Given the description of an element on the screen output the (x, y) to click on. 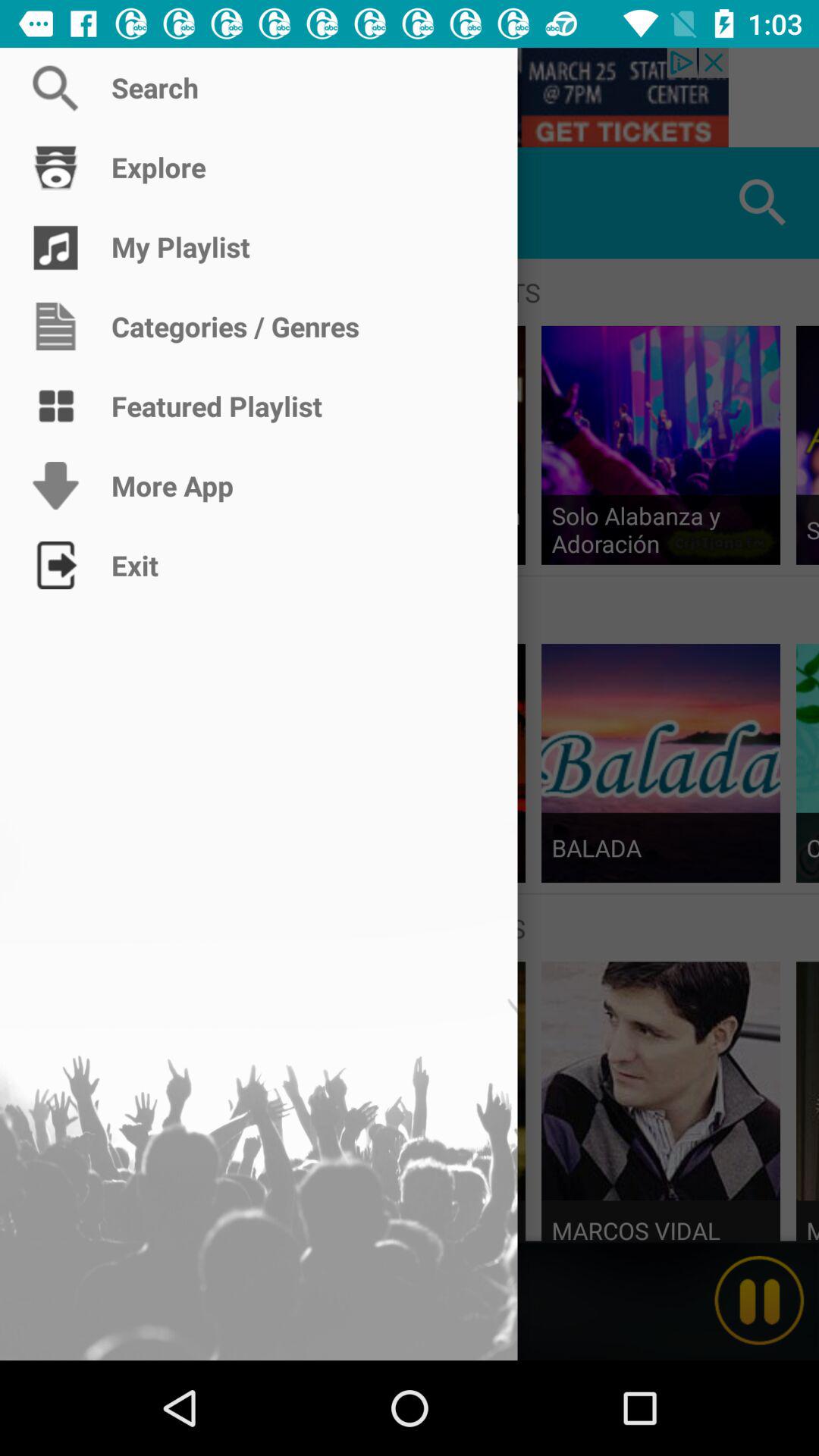
choose item next to the explore (55, 202)
